Given the description of an element on the screen output the (x, y) to click on. 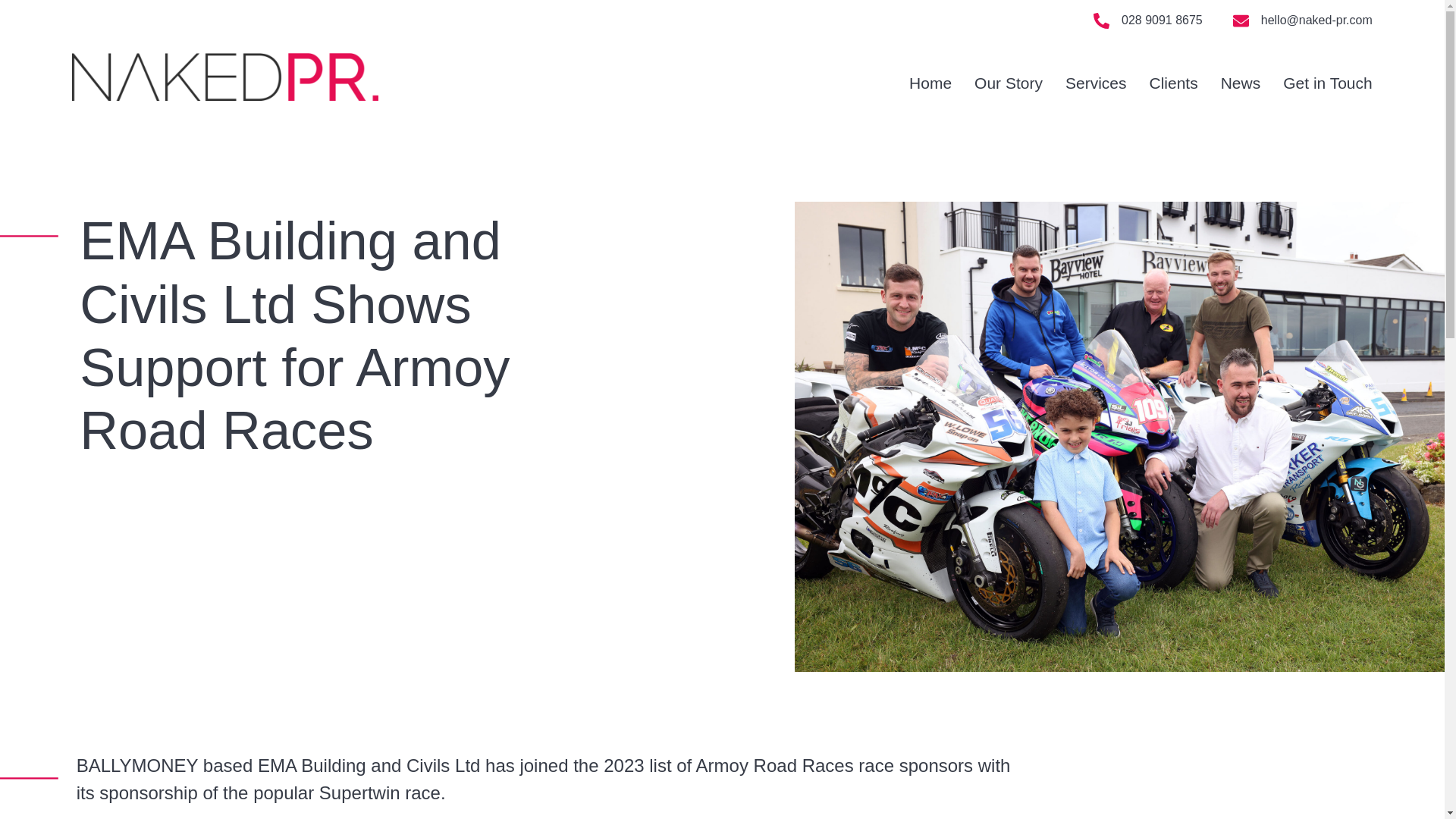
News (1240, 83)
Home (930, 83)
Clients (1172, 83)
028 9091 8675 (1161, 19)
Get in Touch (1327, 83)
Our Story (1008, 83)
Services (1095, 83)
